Given the description of an element on the screen output the (x, y) to click on. 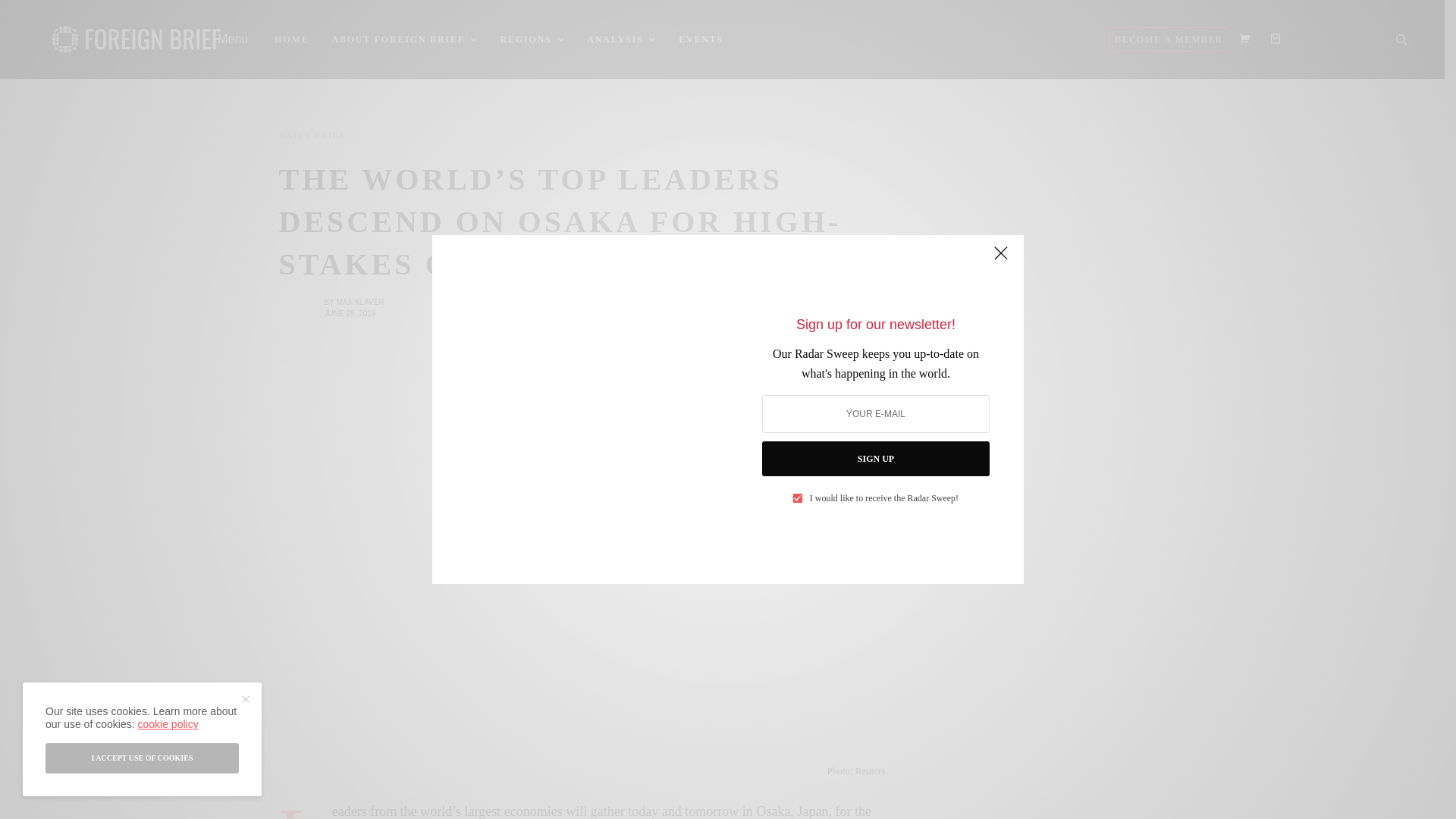
Foreign Brief (135, 39)
MAX KLAVER (360, 302)
BECOME A MEMBER (1168, 39)
ABOUT FOREIGN BRIEF (404, 39)
SIGN UP (875, 458)
Posts by Max Klaver (360, 302)
DAILY BRIEF (312, 135)
